Given the description of an element on the screen output the (x, y) to click on. 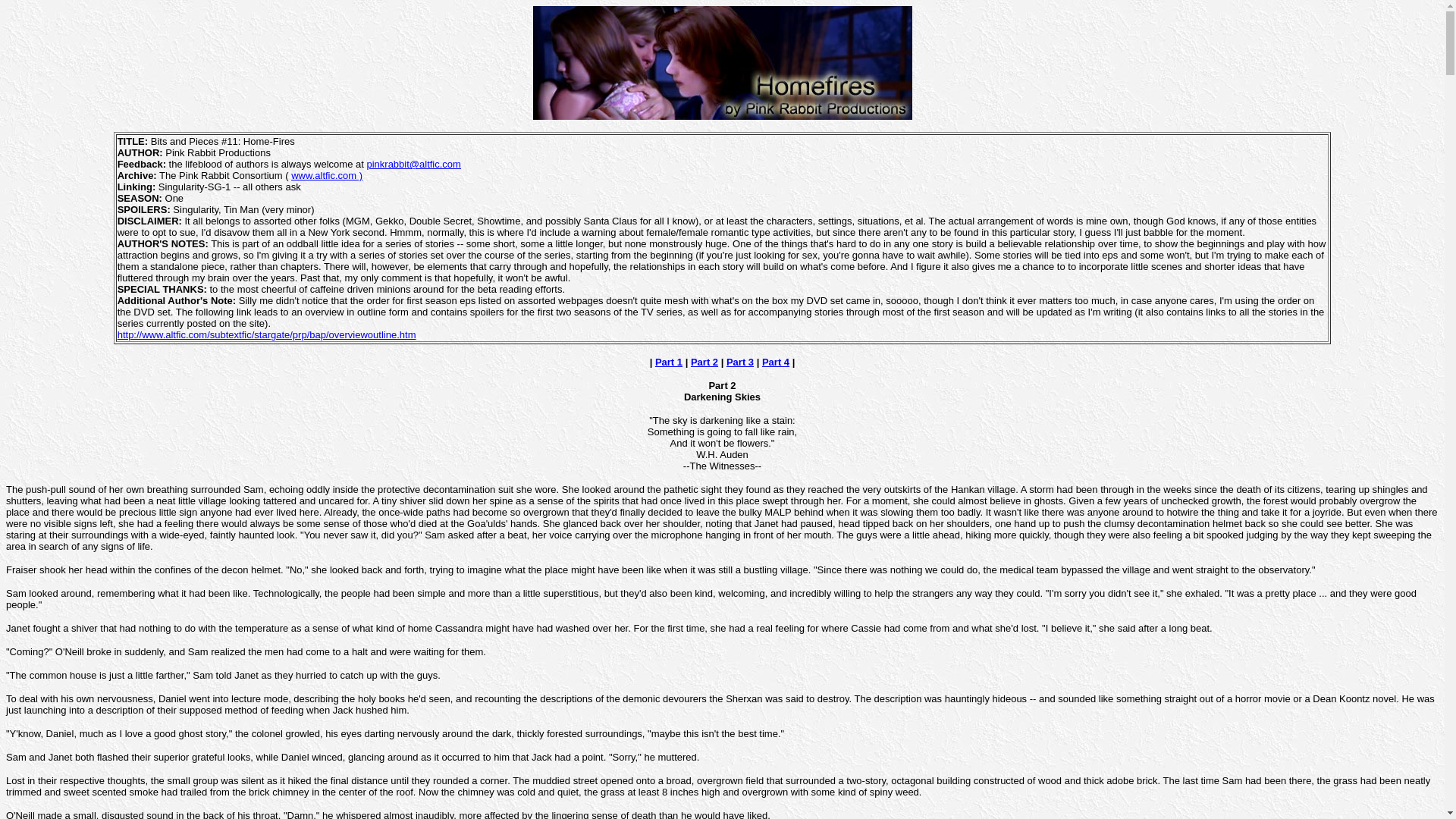
Part 3 (740, 361)
Part 4 (775, 361)
Part 1 (668, 361)
Part 2 (703, 361)
